Given the description of an element on the screen output the (x, y) to click on. 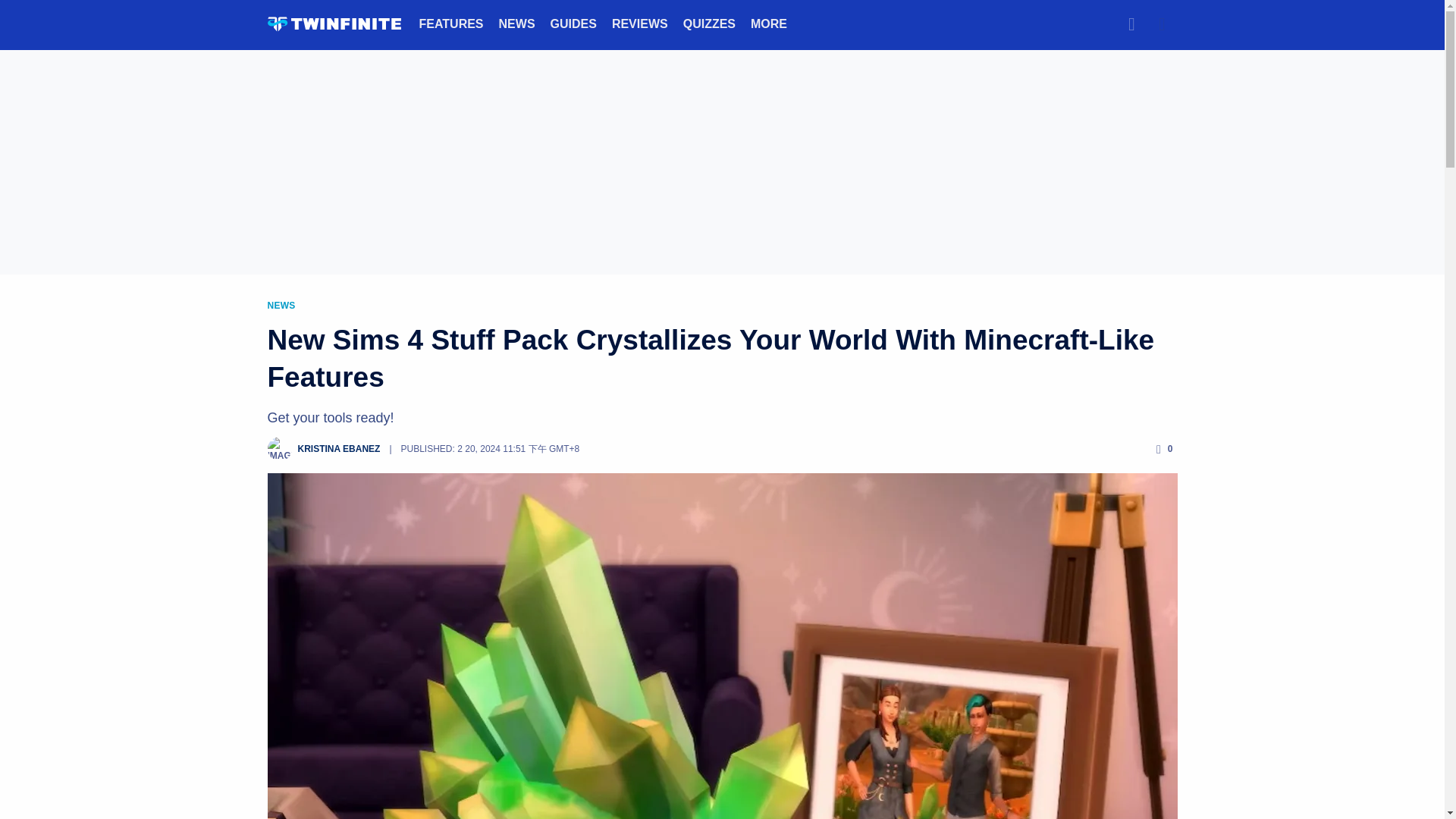
REVIEWS (639, 23)
GUIDES (573, 23)
NEWS (517, 23)
QUIZZES (708, 23)
Dark Mode (1161, 24)
FEATURES (451, 23)
Search (1131, 24)
